Given the description of an element on the screen output the (x, y) to click on. 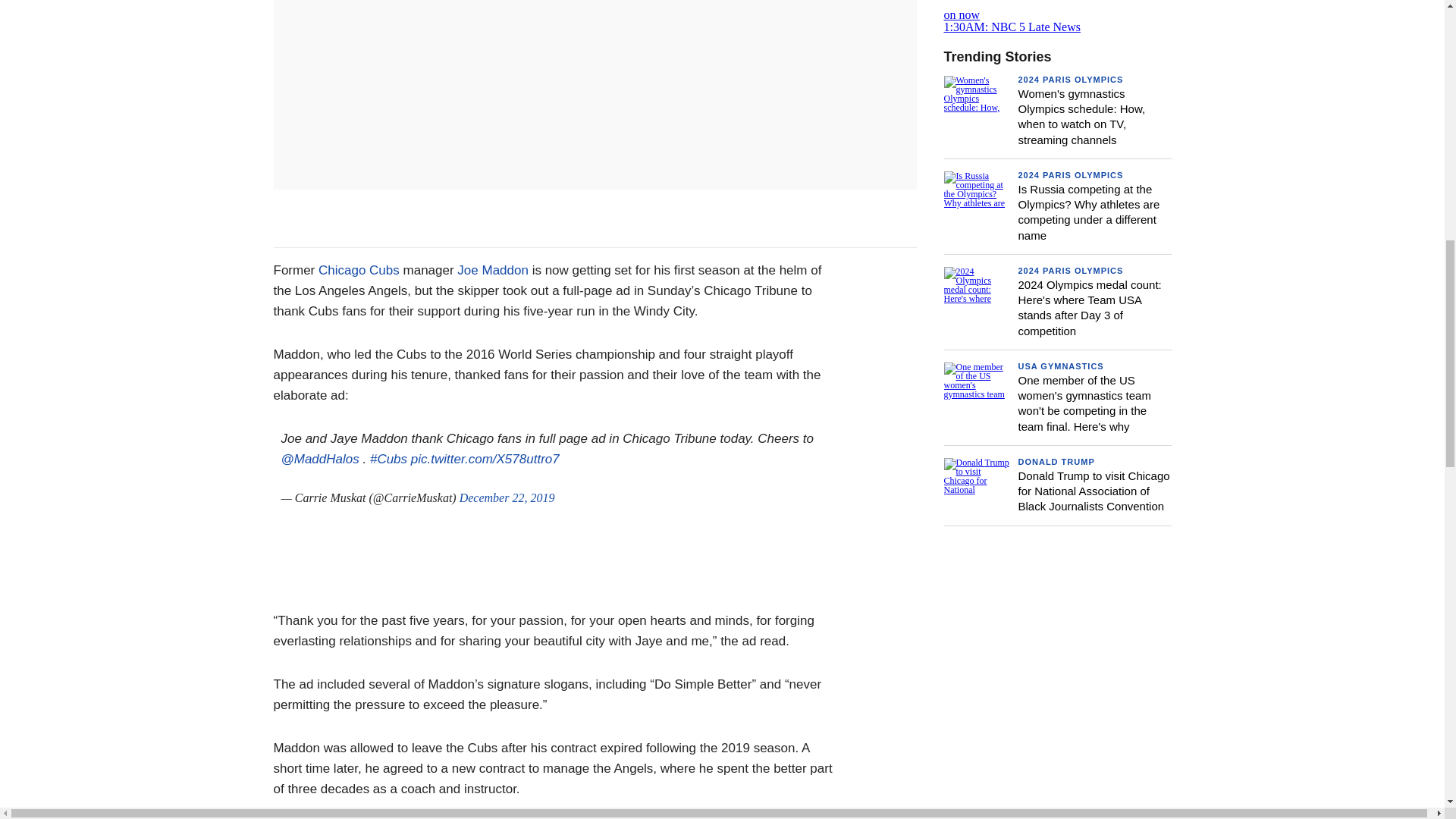
December 22, 2019 (507, 497)
Joe Maddon (492, 269)
Chicago Cubs (360, 269)
